Given the description of an element on the screen output the (x, y) to click on. 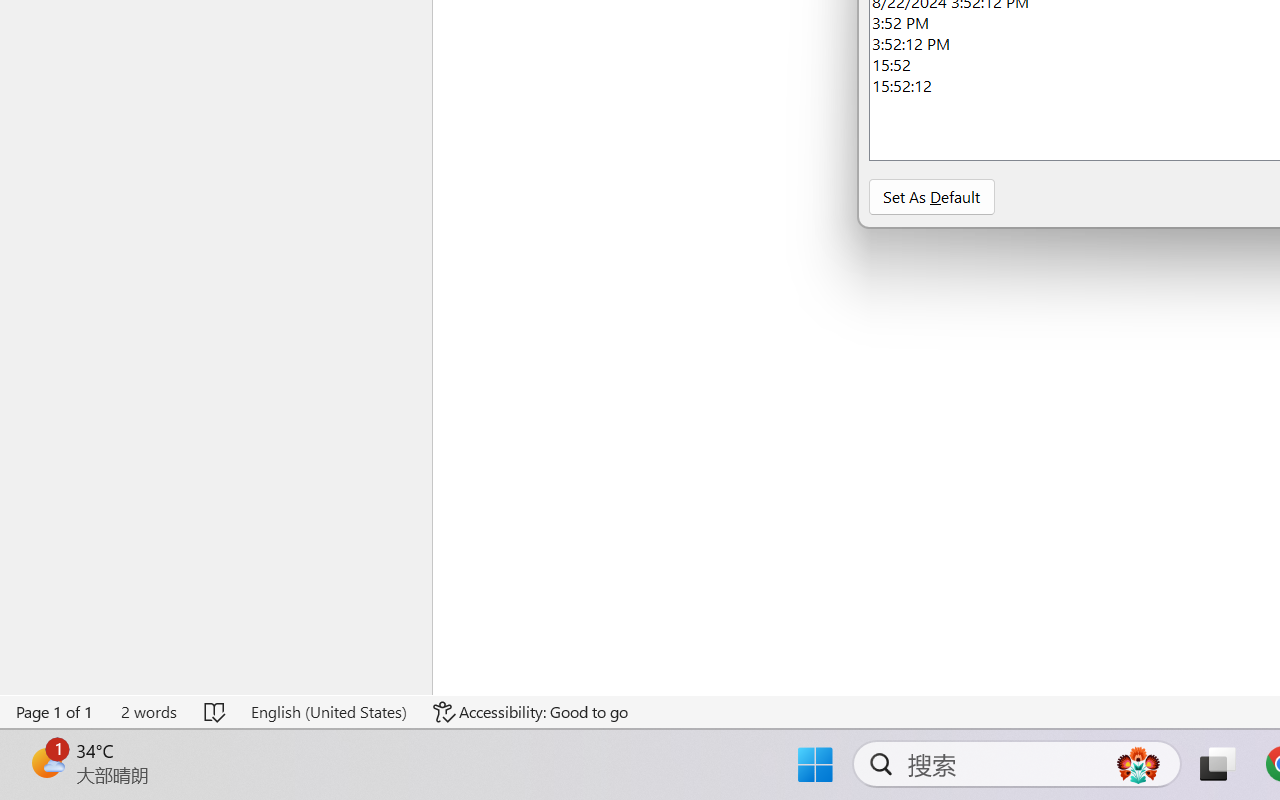
AutomationID: BadgeAnchorLargeTicker (46, 762)
Page Number Page 1 of 1 (55, 712)
Set As Default (931, 196)
Spelling and Grammar Check No Errors (216, 712)
Accessibility Checker Accessibility: Good to go (531, 712)
AutomationID: DynamicSearchBoxGleamImage (1138, 764)
Language English (United States) (328, 712)
